Given the description of an element on the screen output the (x, y) to click on. 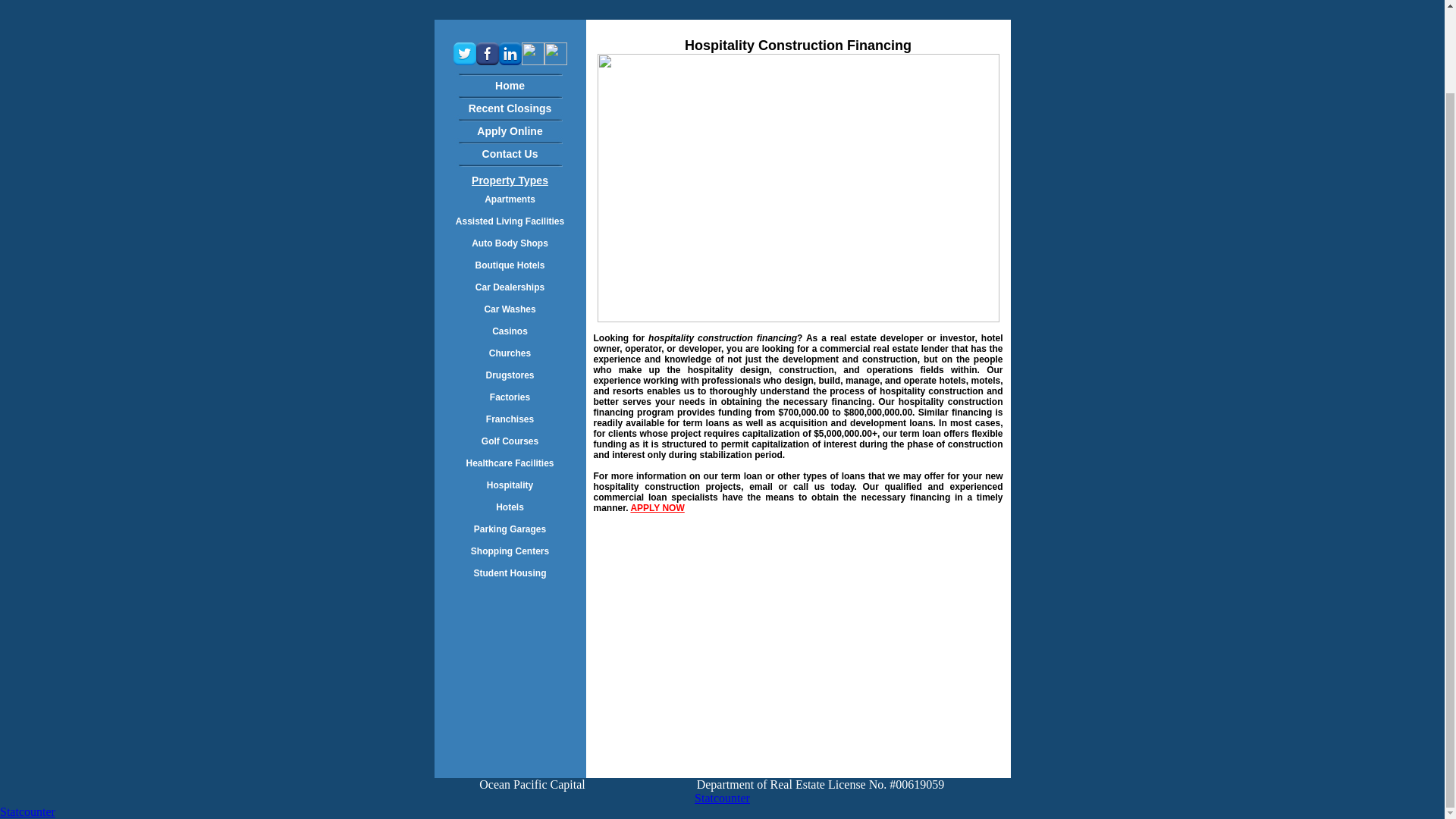
Boutique Hotels (509, 265)
Golf Courses (509, 440)
Statcounter (721, 797)
Student Housing (509, 573)
Car Washes (509, 308)
Shopping Centers (509, 551)
Statcounter (27, 811)
Apartments (509, 199)
Ocean Pacific Capital (532, 784)
Auto Body Shops (509, 243)
Recent Closings (509, 108)
Assisted Living Facilities (509, 221)
Casinos (509, 330)
Hotels (510, 507)
Contact Us (509, 153)
